Given the description of an element on the screen output the (x, y) to click on. 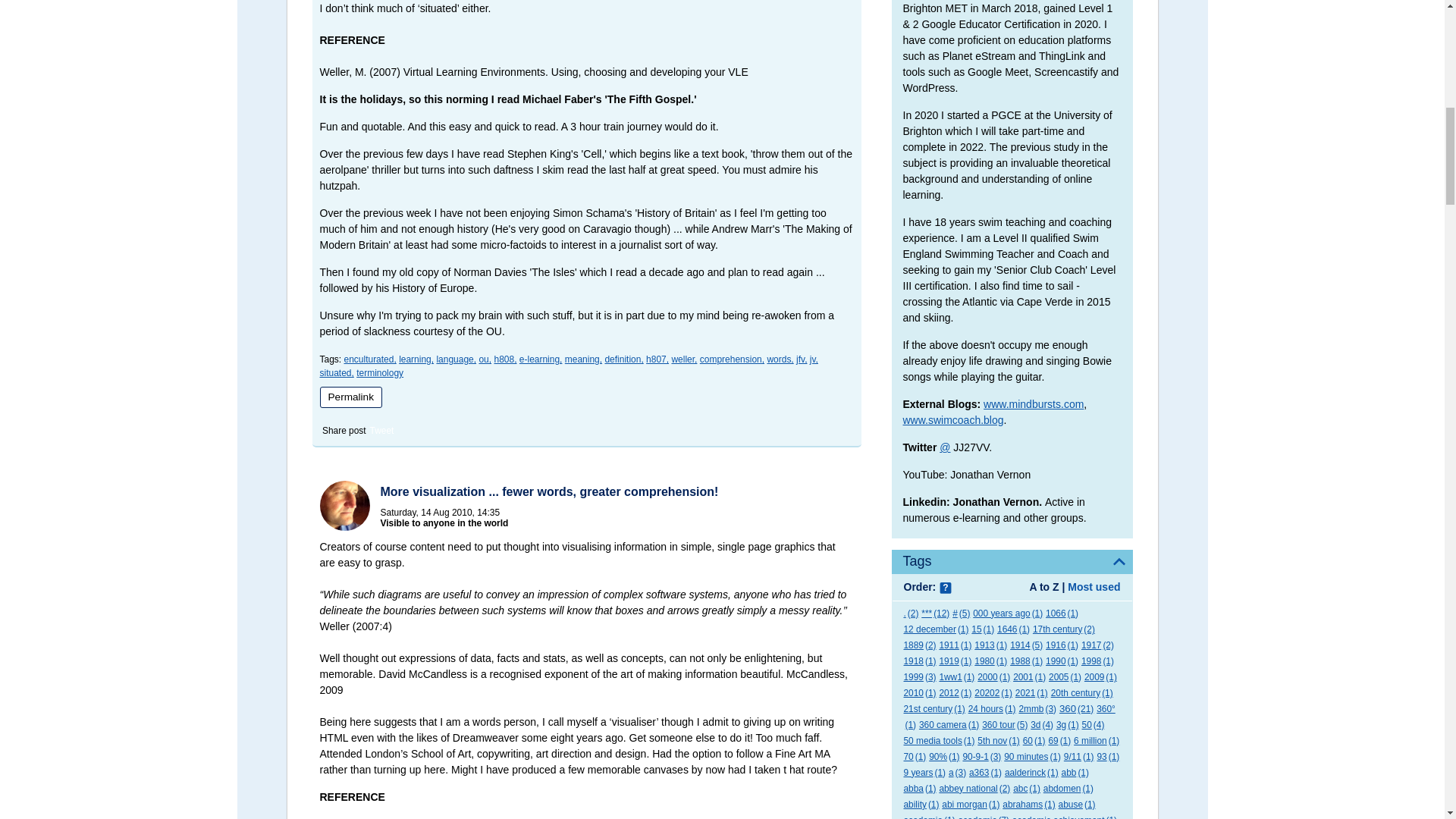
Tags (1011, 561)
www.swimcoach.blog (952, 419)
www.mindbursts.com (1033, 404)
Most used (1093, 586)
Help with Order: (945, 588)
